Given the description of an element on the screen output the (x, y) to click on. 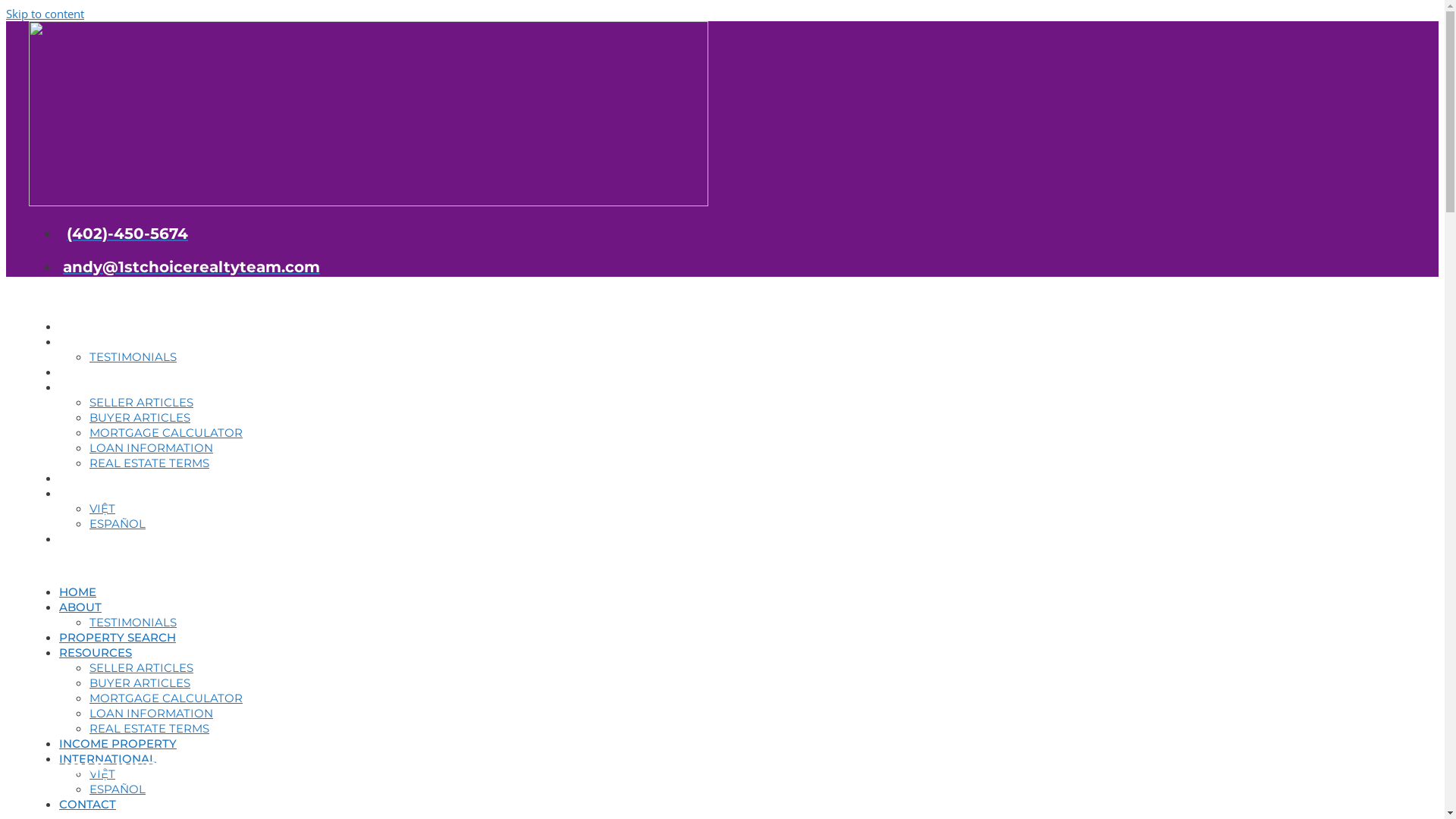
BUYER ARTICLES Element type: text (139, 682)
andy@1stchoicerealtyteam.com Element type: text (189, 266)
RESOURCES Element type: text (106, 386)
CONTACT Element type: text (98, 538)
BUYER ARTICLES Element type: text (139, 417)
LOAN INFORMATION Element type: text (151, 713)
(402)-450-5674 Element type: text (123, 233)
TESTIMONIALS Element type: text (132, 356)
Skip to content Element type: text (45, 13)
INCOME PROPERTY Element type: text (129, 477)
INTERNATIONAL Element type: text (118, 493)
REAL ESTATE TERMS Element type: text (149, 728)
MORTGAGE CALCULATOR Element type: text (165, 432)
MORTGAGE CALCULATOR Element type: text (165, 697)
PROPERTY SEARCH Element type: text (128, 371)
RESOURCES Element type: text (95, 652)
LOAN INFORMATION Element type: text (151, 447)
HOME Element type: text (89, 326)
PROPERTY SEARCH Element type: text (117, 637)
INTERNATIONAL Element type: text (107, 758)
TESTIMONIALS Element type: text (132, 622)
INCOME PROPERTY Element type: text (117, 743)
ABOUT Element type: text (91, 341)
SELLER ARTICLES Element type: text (141, 402)
SELLER ARTICLES Element type: text (141, 667)
CONTACT Element type: text (87, 804)
REAL ESTATE TERMS Element type: text (149, 462)
ABOUT Element type: text (80, 606)
HOME Element type: text (77, 591)
